Given the description of an element on the screen output the (x, y) to click on. 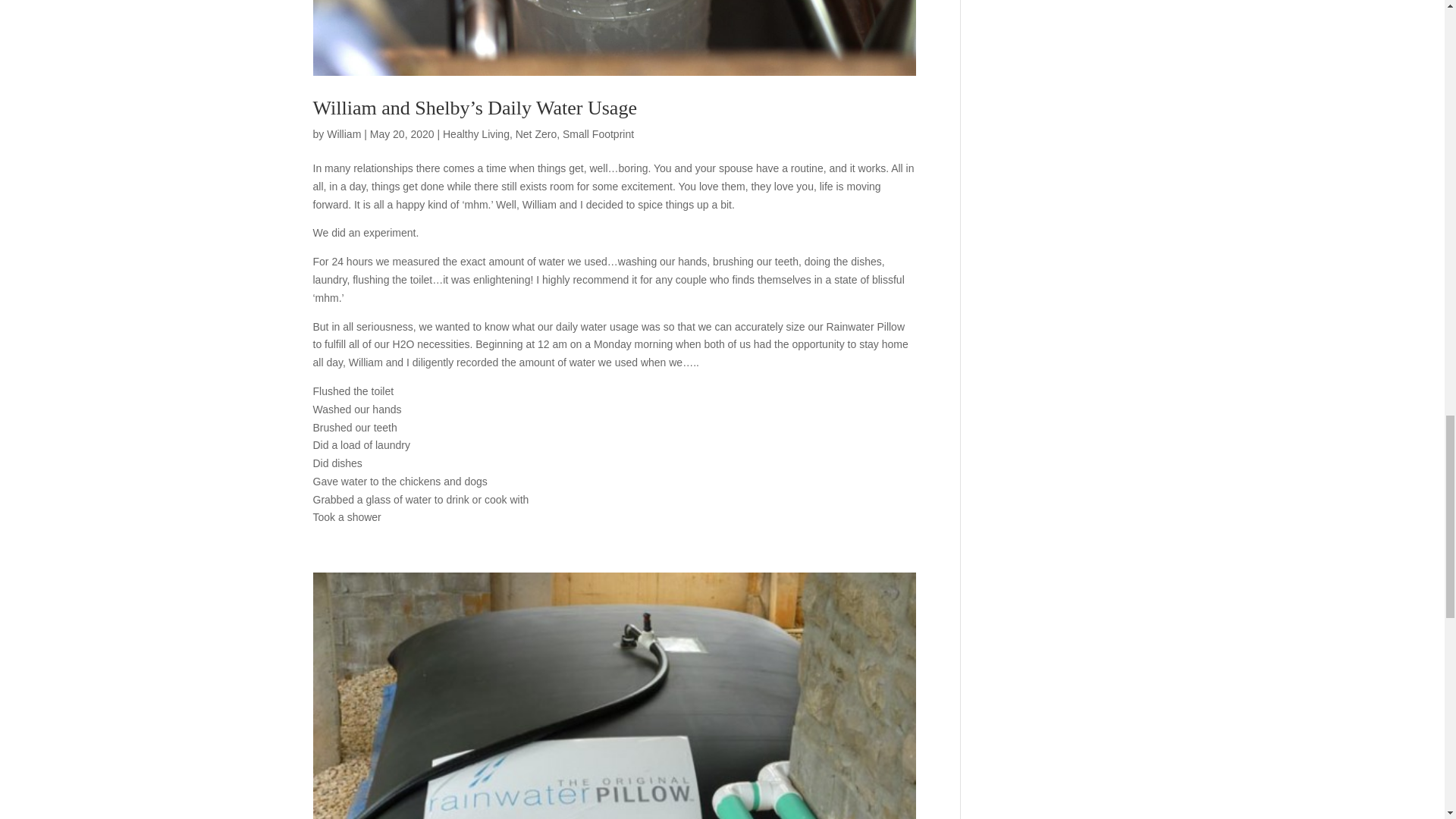
Posts by William (343, 133)
Healthy Living (475, 133)
Net Zero (535, 133)
William (343, 133)
Small Footprint (597, 133)
